Given the description of an element on the screen output the (x, y) to click on. 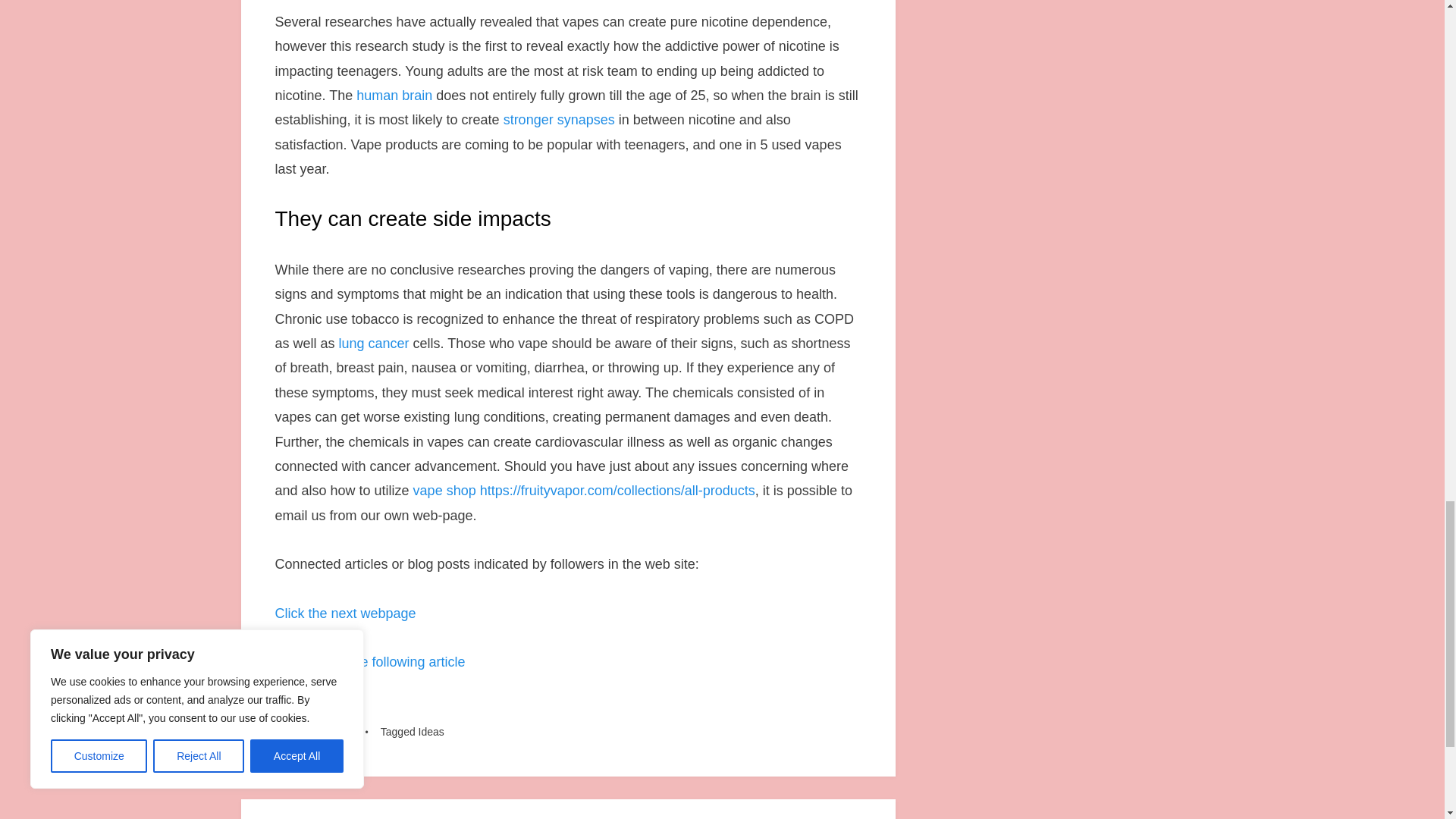
human brain (394, 95)
please click the following article (369, 661)
Ideas (431, 731)
lung cancer (374, 343)
stronger synapses (558, 119)
Click the next webpage (344, 613)
General (340, 731)
